Given the description of an element on the screen output the (x, y) to click on. 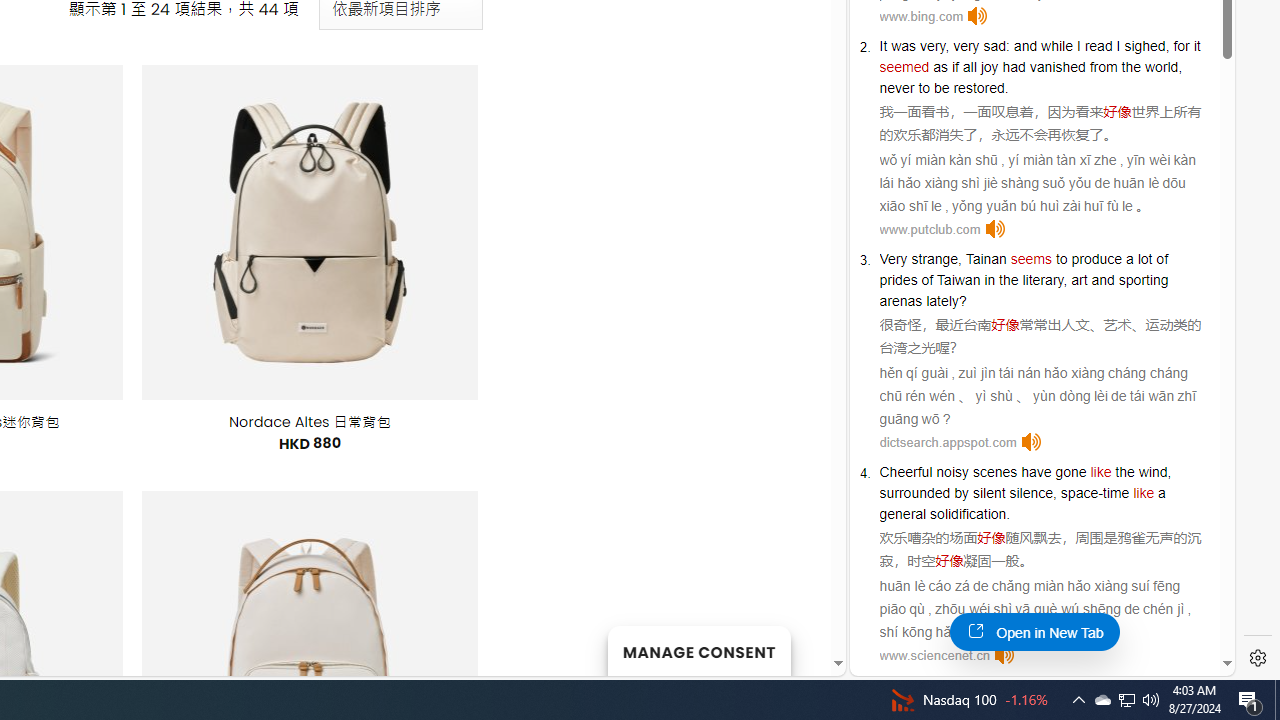
restored (978, 87)
sighed (1144, 46)
? (961, 300)
as (940, 66)
wind (1152, 471)
seems (1031, 259)
space-time (1094, 493)
